Given the description of an element on the screen output the (x, y) to click on. 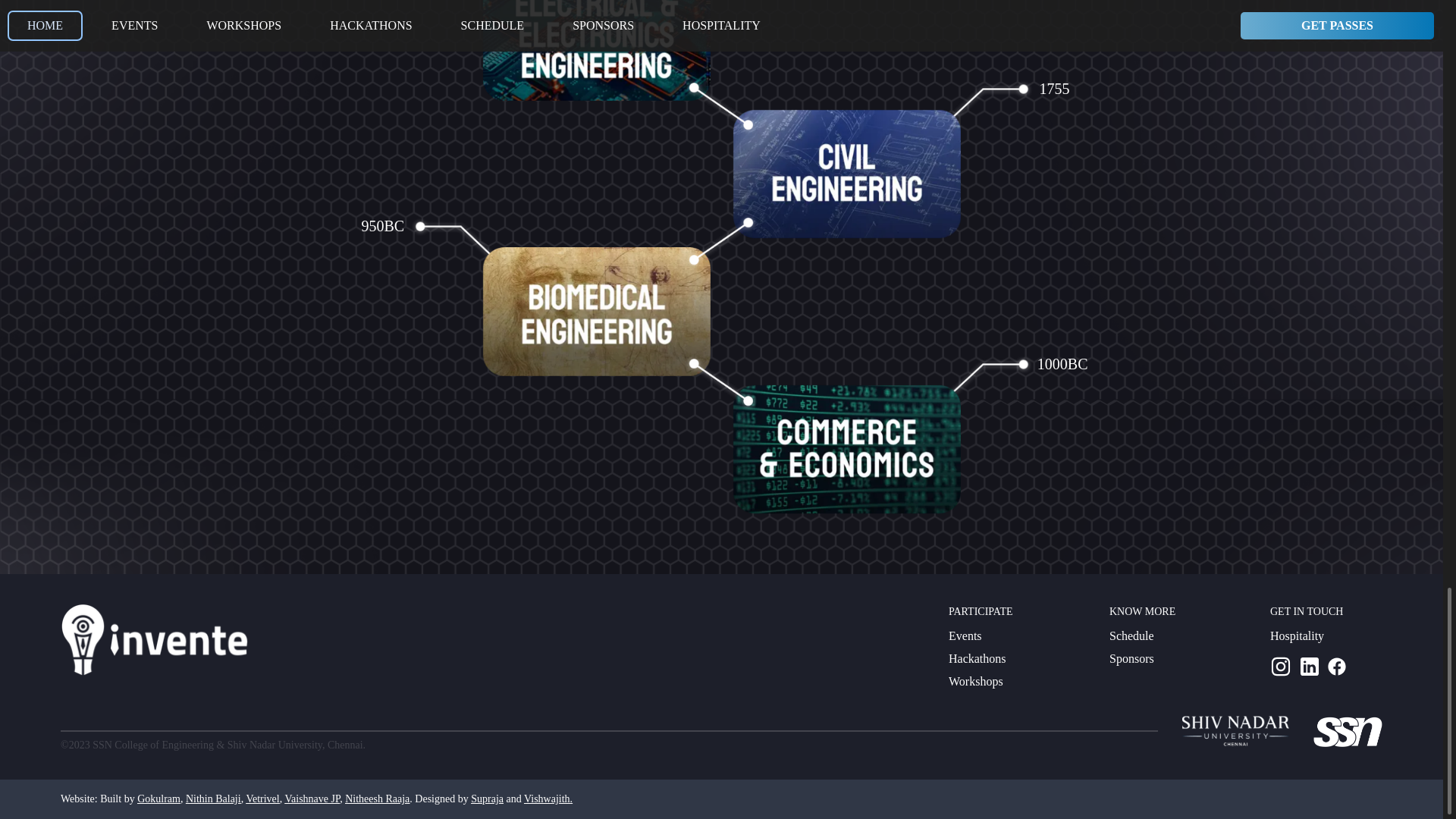
Events (965, 635)
Workshops (976, 680)
Hackathons (977, 658)
Sponsors (1131, 658)
Schedule (1131, 635)
Hospitality (1296, 635)
